Given the description of an element on the screen output the (x, y) to click on. 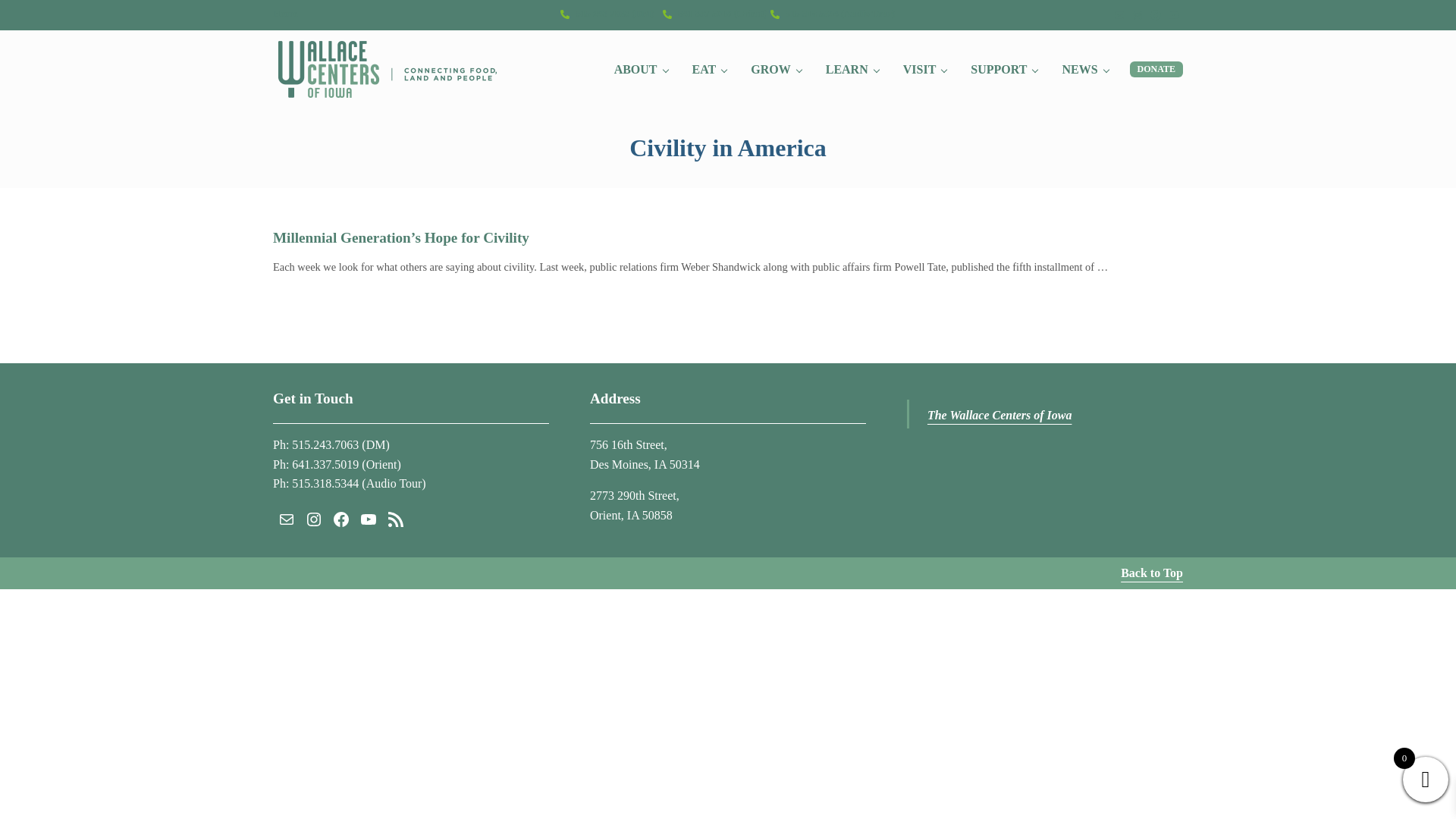
Home (285, 13)
EAT (709, 69)
ABOUT (640, 69)
Mail (1118, 14)
GROW (775, 69)
YouTube (1173, 14)
Facebook (1155, 14)
Instagram (1137, 14)
